Given the description of an element on the screen output the (x, y) to click on. 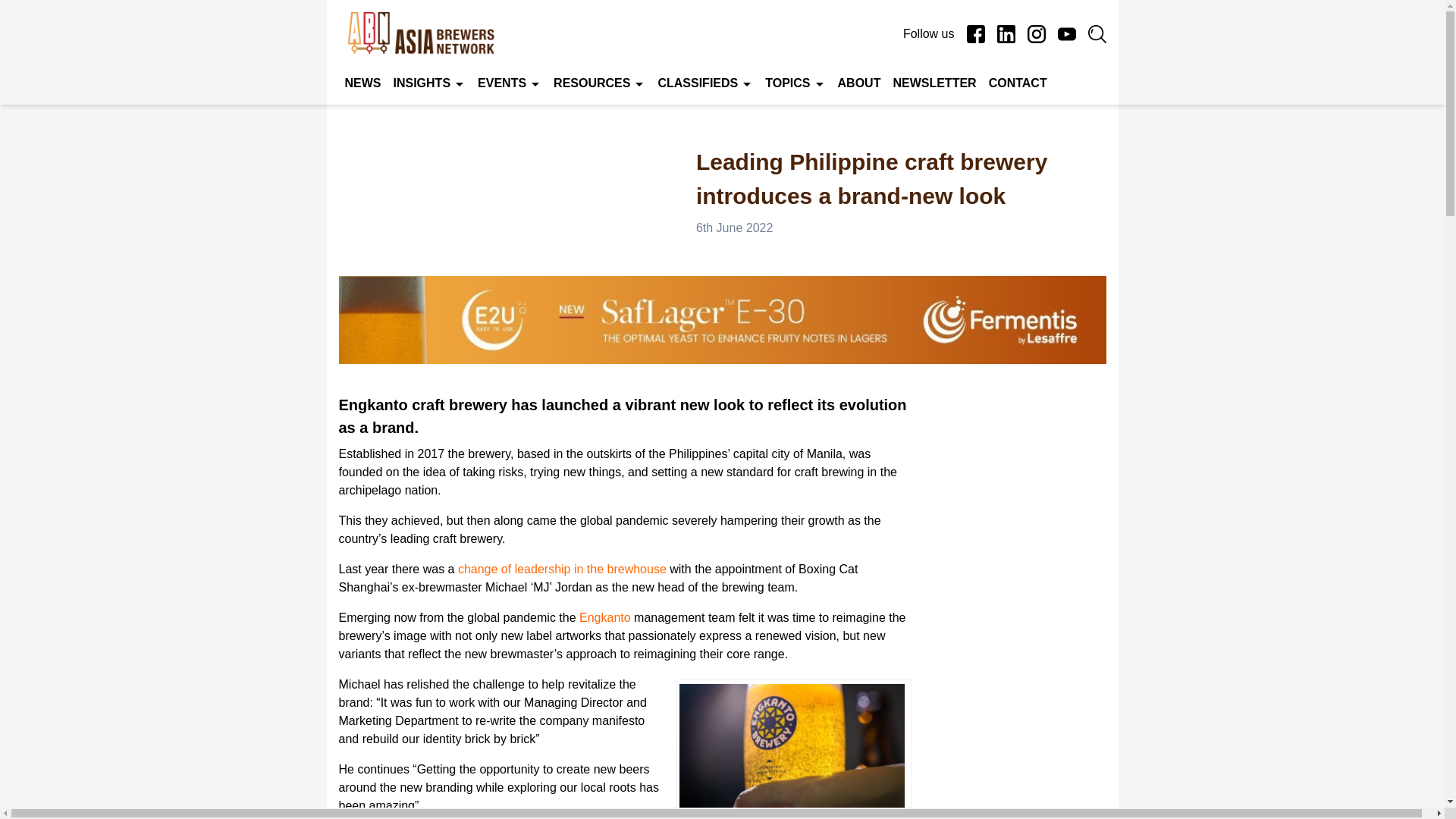
NEWSLETTER (933, 82)
CLASSIFIEDS (697, 82)
CONTACT (1017, 82)
ABOUT (858, 82)
NEWS (362, 82)
INSIGHTS (422, 82)
TOPICS (786, 82)
Engkanto (604, 617)
EVENTS (501, 82)
